Given the description of an element on the screen output the (x, y) to click on. 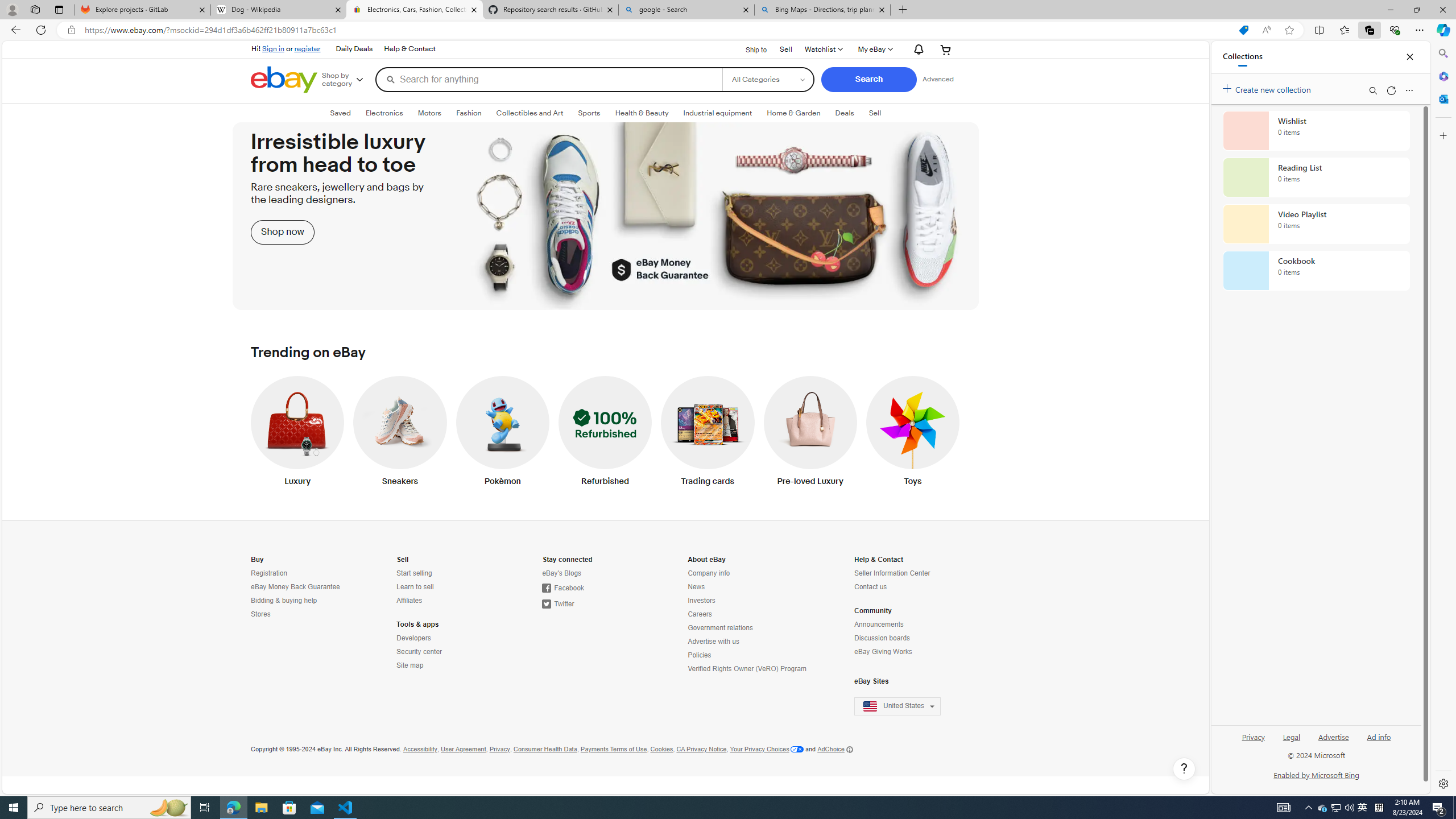
Deals (844, 112)
WatchlistExpand Watch List (822, 49)
Industrial equipment (717, 112)
Registration (300, 573)
register (307, 48)
Developers (413, 638)
FashionExpand: Fashion (468, 112)
Trading cards (707, 433)
Your shopping cart (946, 49)
Consumer Health Data (544, 749)
Home & Garden (794, 112)
Developers (446, 638)
Learn to sell (414, 587)
More options menu (1409, 90)
